Given the description of an element on the screen output the (x, y) to click on. 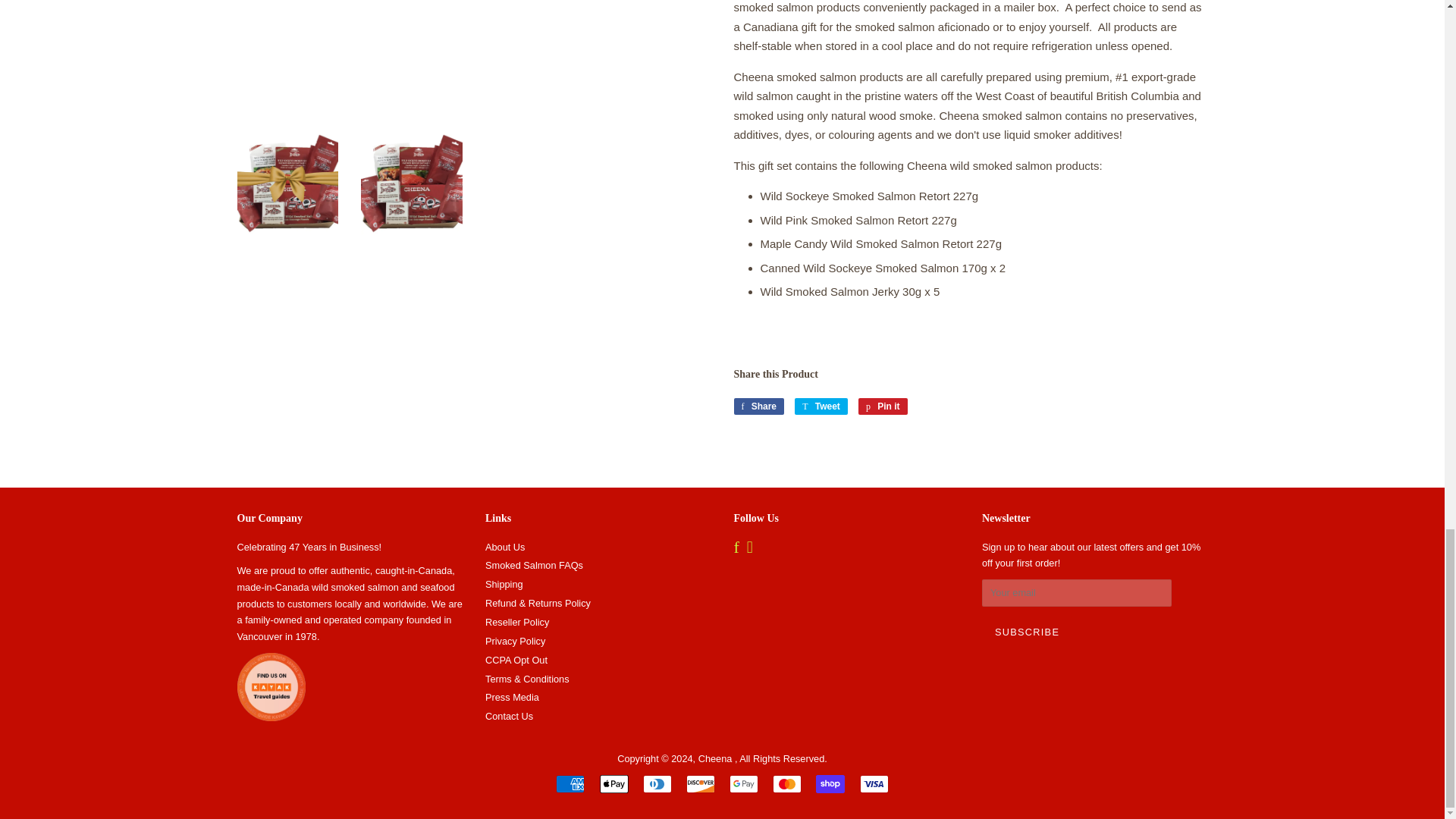
Diners Club (657, 783)
Mastercard (787, 783)
American Express (570, 783)
Tweet on Twitter (820, 406)
Pin on Pinterest (883, 406)
Visa (874, 783)
Google Pay (743, 783)
Shop Pay (829, 783)
Subscribe (1026, 633)
Share on Facebook (758, 406)
